Given the description of an element on the screen output the (x, y) to click on. 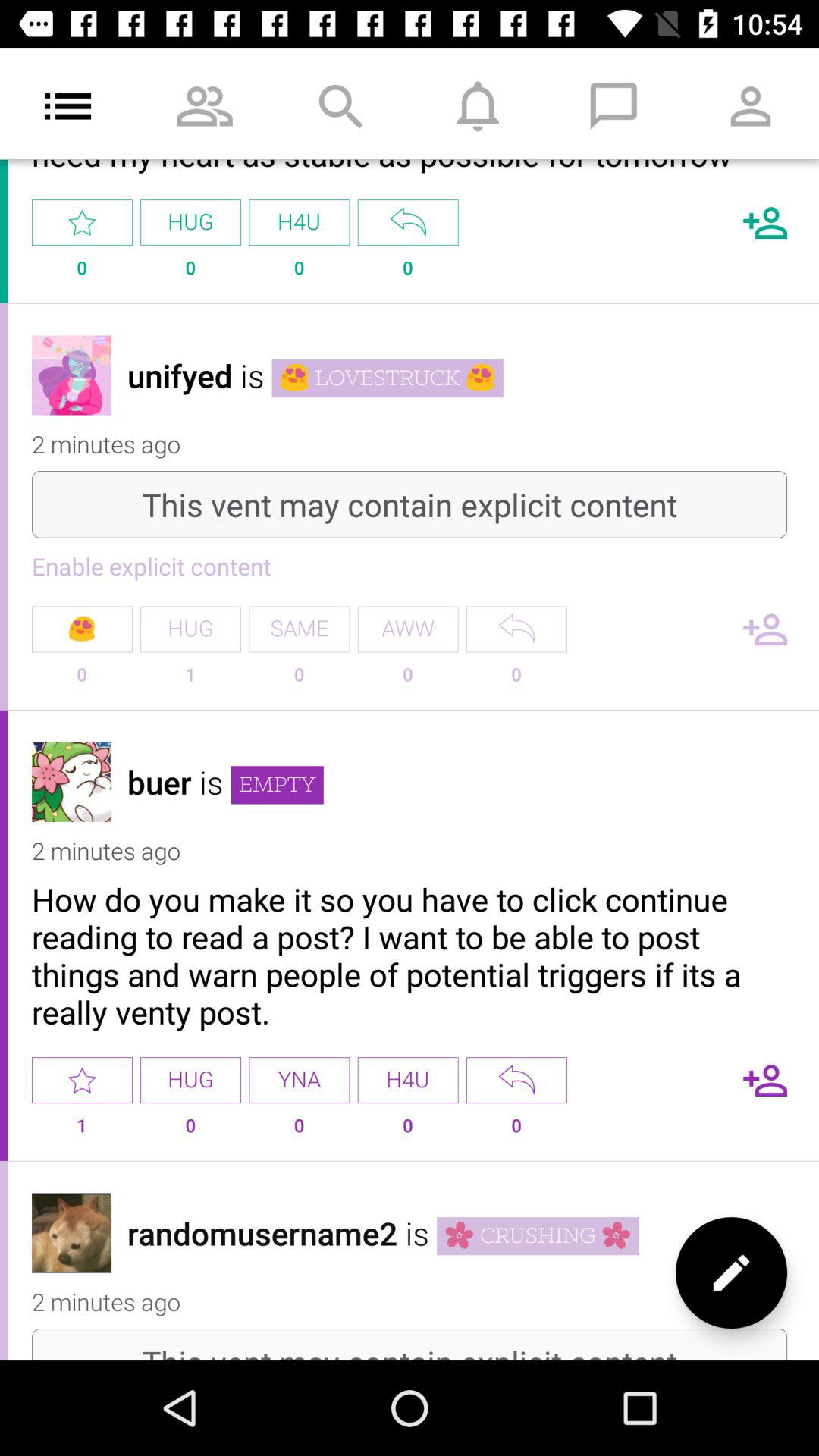
reply (407, 222)
